Given the description of an element on the screen output the (x, y) to click on. 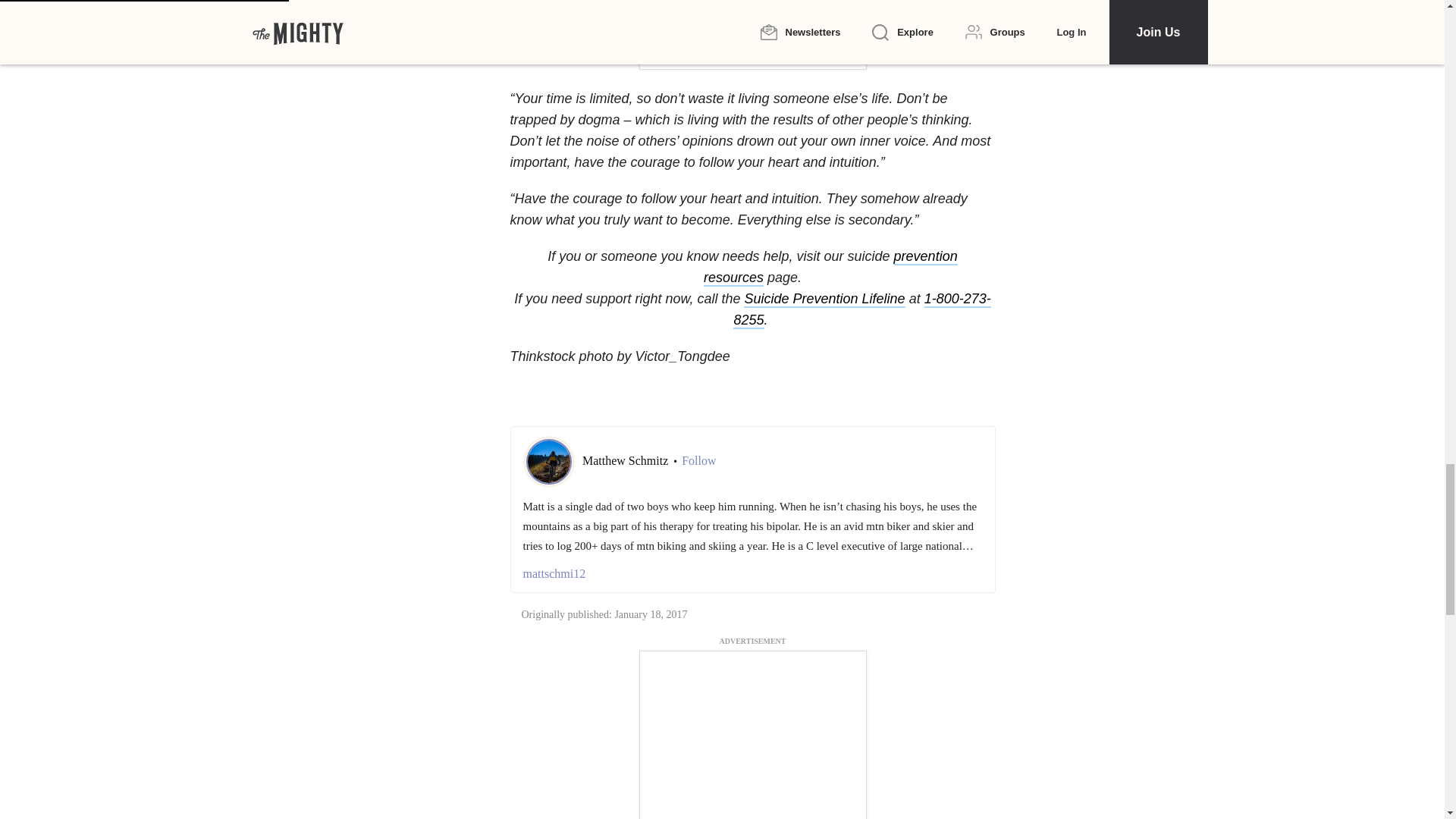
Follow (698, 460)
1-800-273-8255 (861, 310)
Suicide Prevention Lifeline (824, 299)
Matthew Schmitz (626, 460)
prevention resources (830, 267)
mattschmi12 (752, 574)
